Given the description of an element on the screen output the (x, y) to click on. 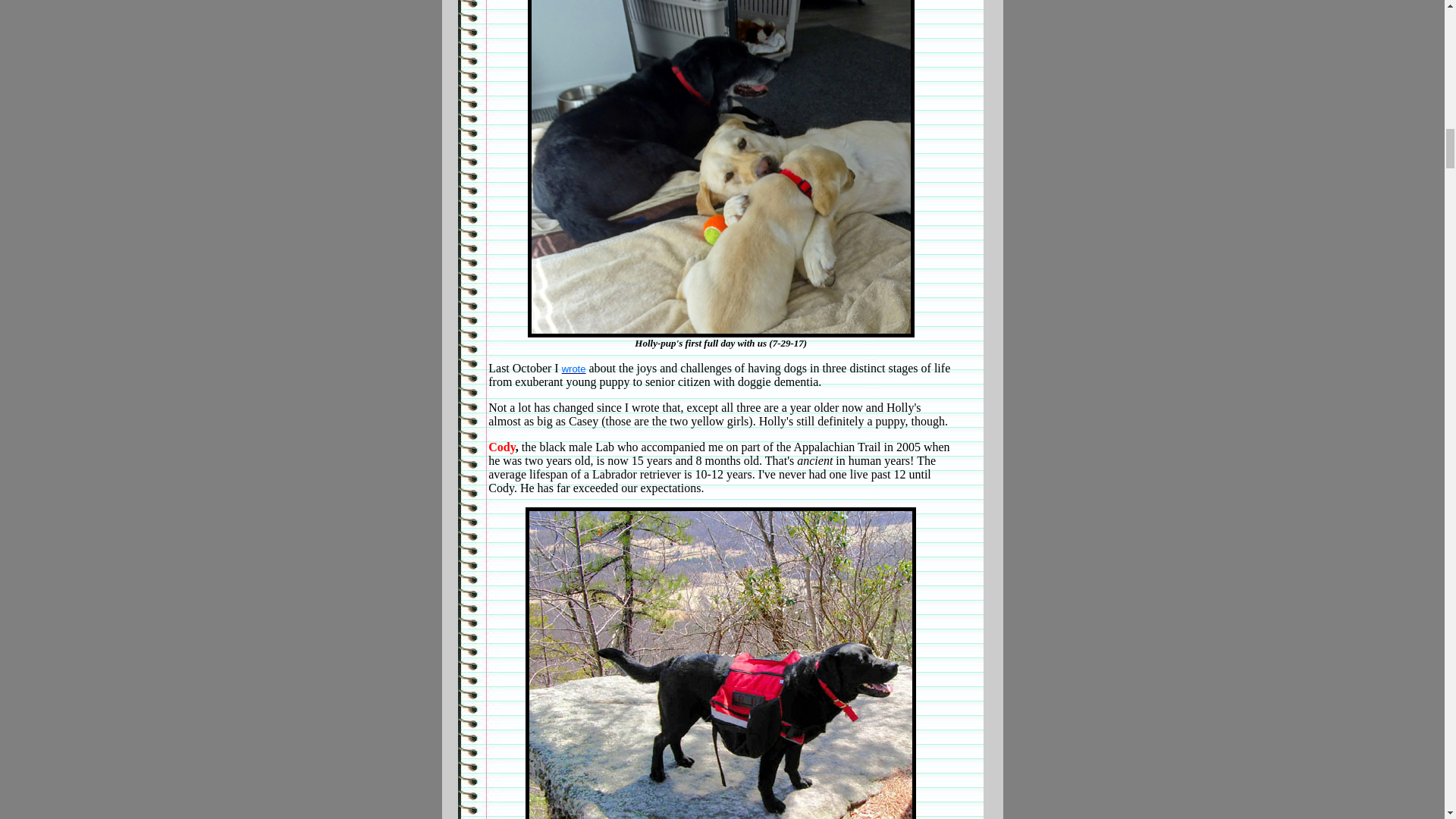
wrote (574, 368)
